Given the description of an element on the screen output the (x, y) to click on. 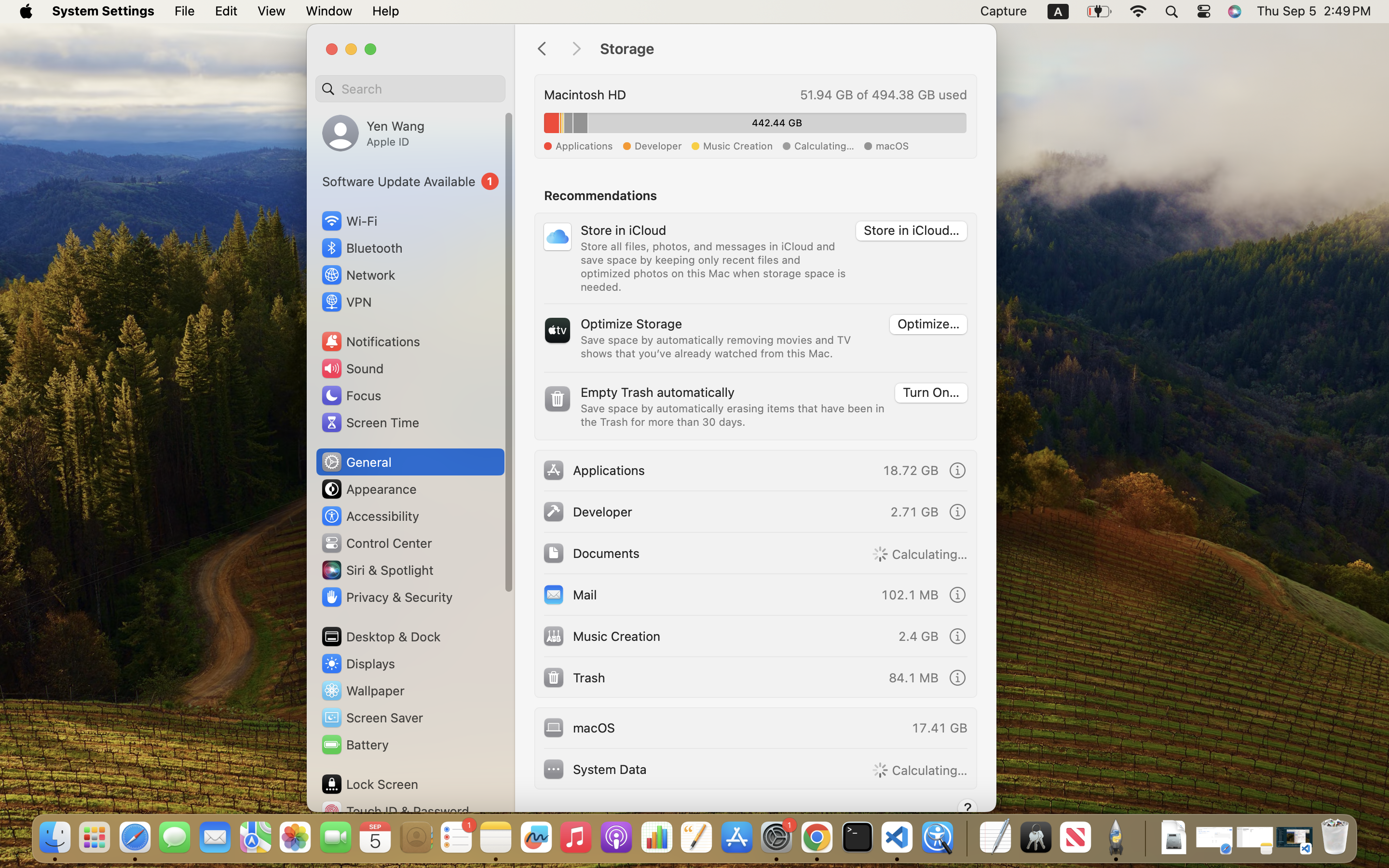
Wi‑Fi Element type: AXStaticText (348, 220)
102.1 MB Element type: AXStaticText (909, 593)
2.71 GB Element type: AXStaticText (914, 510)
Displays Element type: AXStaticText (357, 663)
Save space by automatically removing movies and TV shows that you’ve already watched from this Mac. Element type: AXStaticText (717, 345)
